Given the description of an element on the screen output the (x, y) to click on. 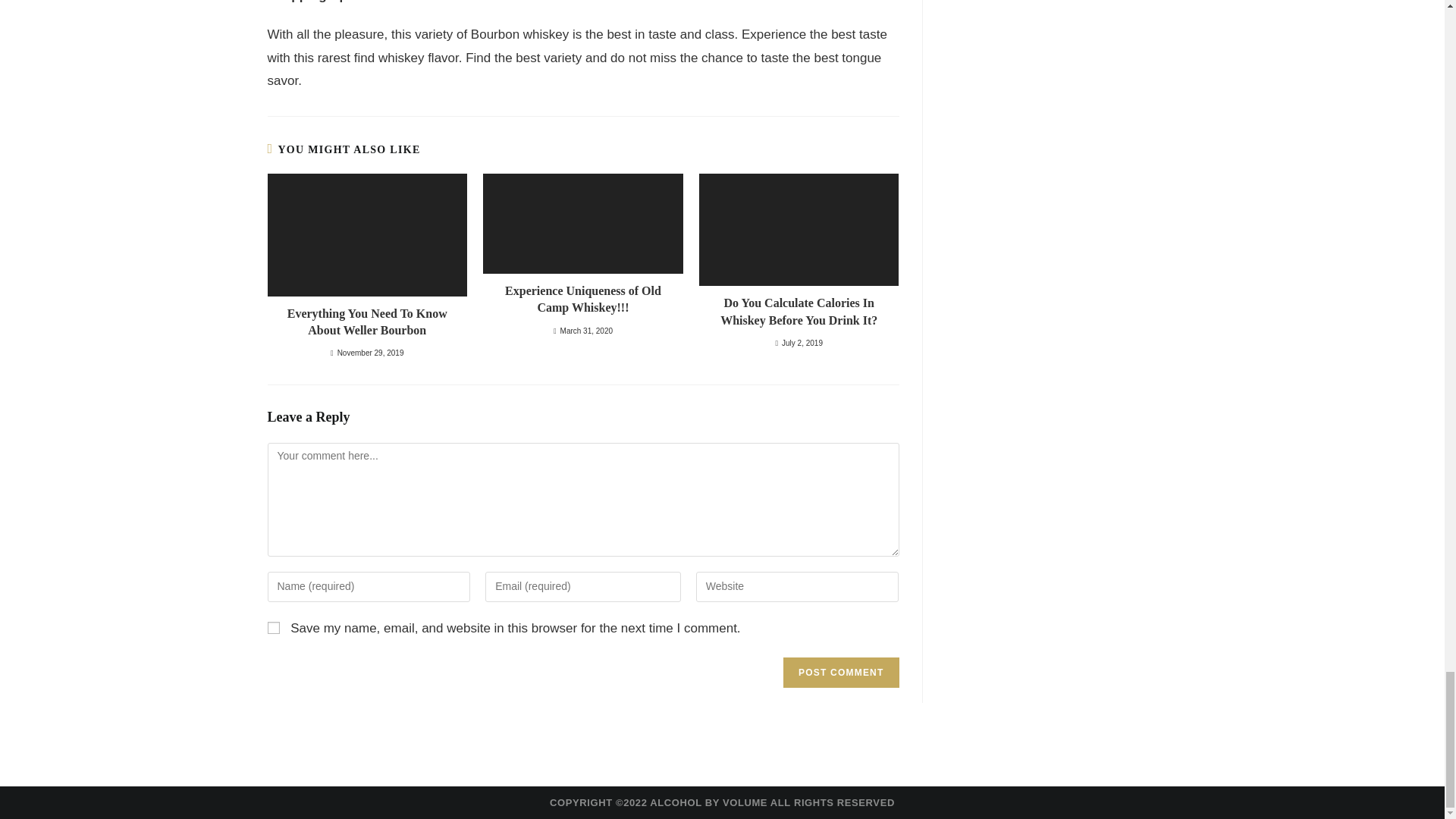
Post Comment (840, 672)
Everything You Need To Know About Weller Bourbon (366, 322)
Do You Calculate Calories In Whiskey Before You Drink It? (798, 311)
Experience Uniqueness of Old Camp Whiskey!!! (582, 299)
Everything You Need To Know About Weller Bourbon (366, 322)
Do You Calculate Calories In Whiskey Before You Drink It? (798, 311)
Experience Uniqueness of Old Camp Whiskey!!! (582, 299)
yes (272, 627)
Post Comment (840, 672)
